Given the description of an element on the screen output the (x, y) to click on. 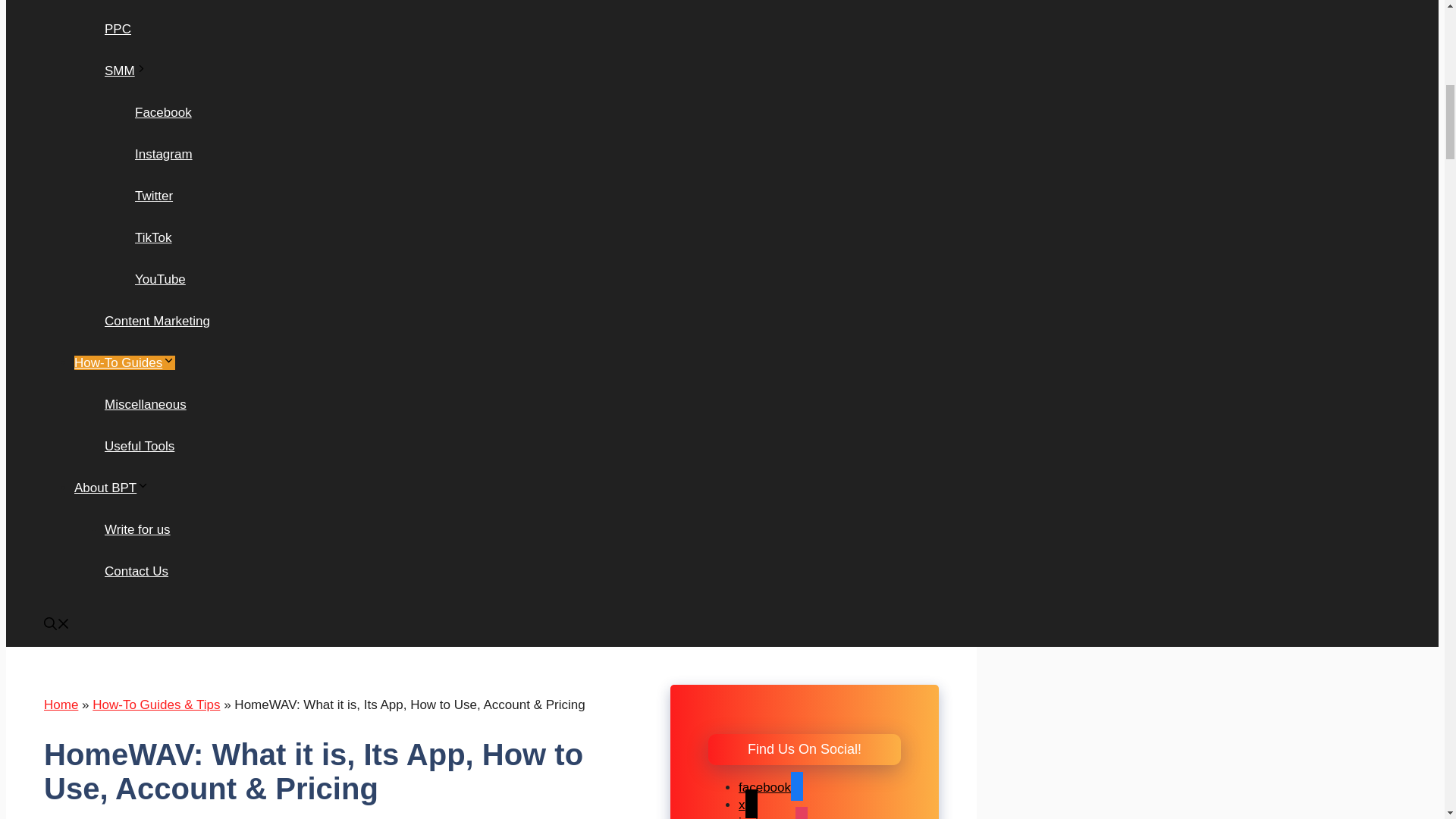
SMM (126, 70)
About BPT (111, 487)
PPC (117, 29)
Twitter (154, 196)
Content Marketing (156, 320)
Contact Us (136, 571)
YouTube (160, 278)
Write for us (137, 529)
Home (60, 704)
TikTok (153, 237)
Miscellaneous (145, 404)
Facebook (163, 112)
Instagram (163, 154)
Useful Tools (139, 445)
How-To Guides (124, 362)
